Given the description of an element on the screen output the (x, y) to click on. 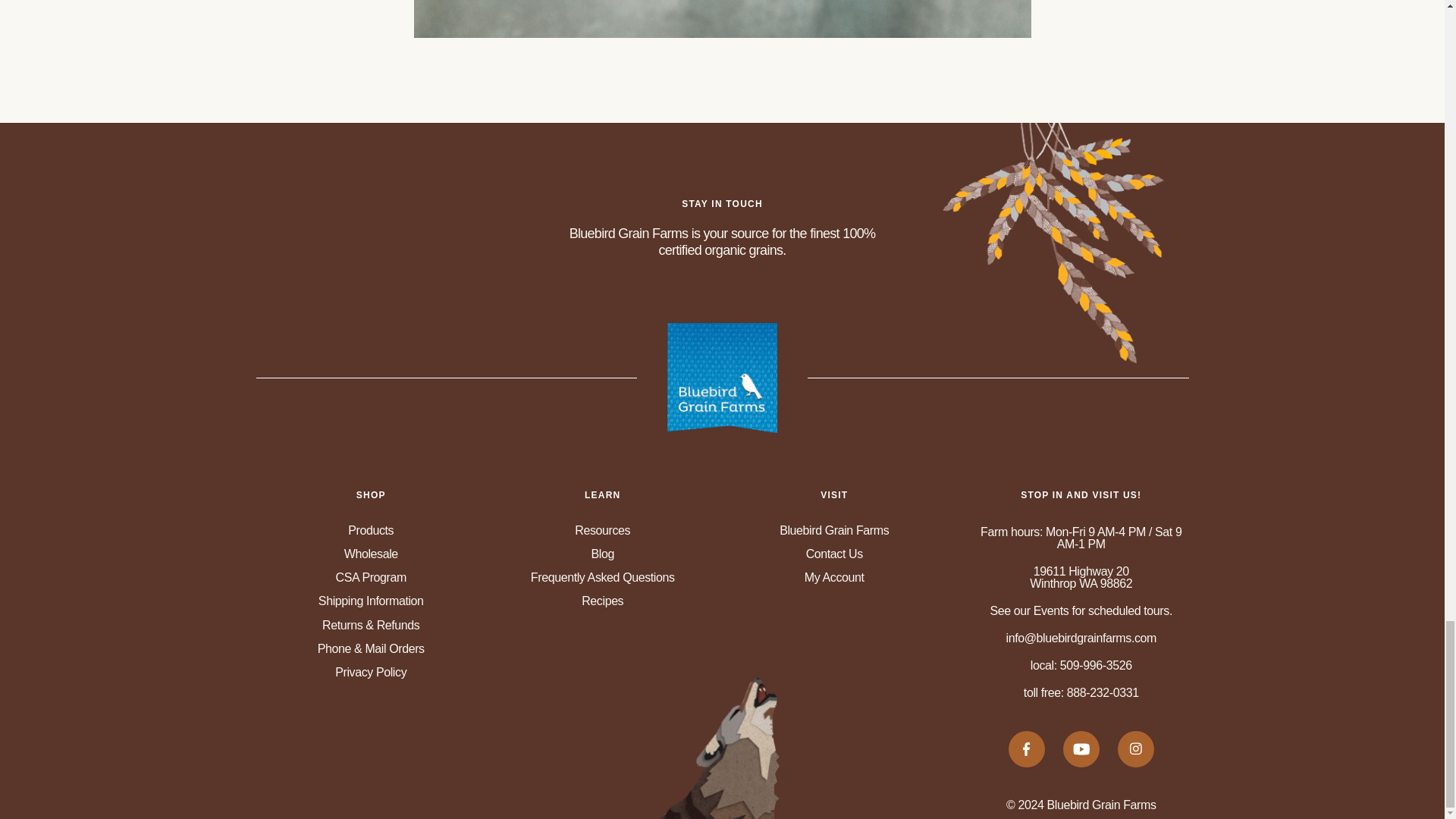
facebook (1027, 749)
instagram (1136, 749)
youtube (1080, 749)
